Given the description of an element on the screen output the (x, y) to click on. 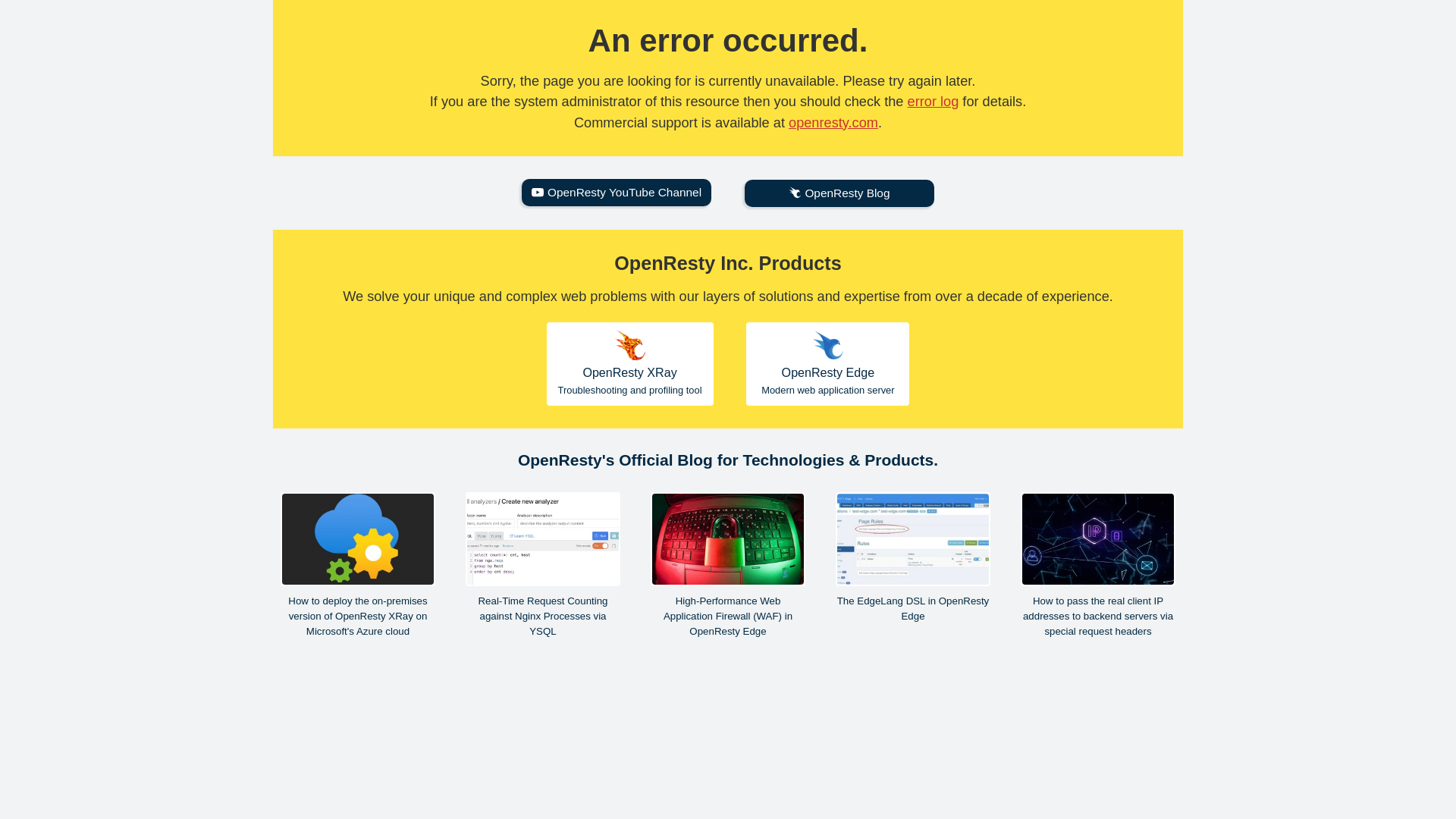
OpenResty Blog (839, 193)
Real-Time Request Counting against Nginx Processes via YSQL (542, 565)
The EdgeLang DSL in OpenResty Edge (630, 363)
OpenResty YouTube Channel (826, 363)
openresty.com (912, 558)
error log (616, 192)
